Given the description of an element on the screen output the (x, y) to click on. 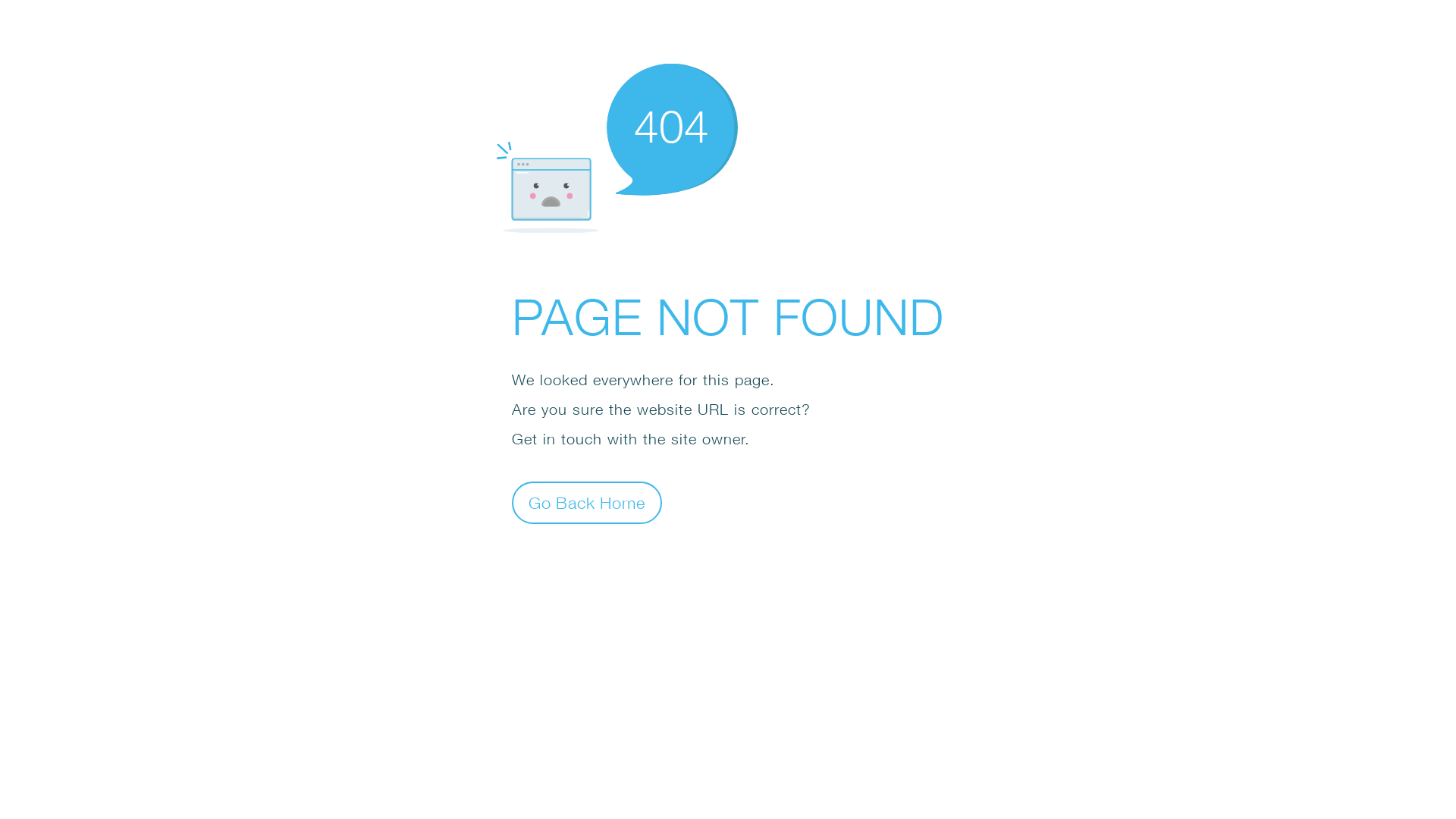
Go Back Home Element type: text (586, 502)
